Given the description of an element on the screen output the (x, y) to click on. 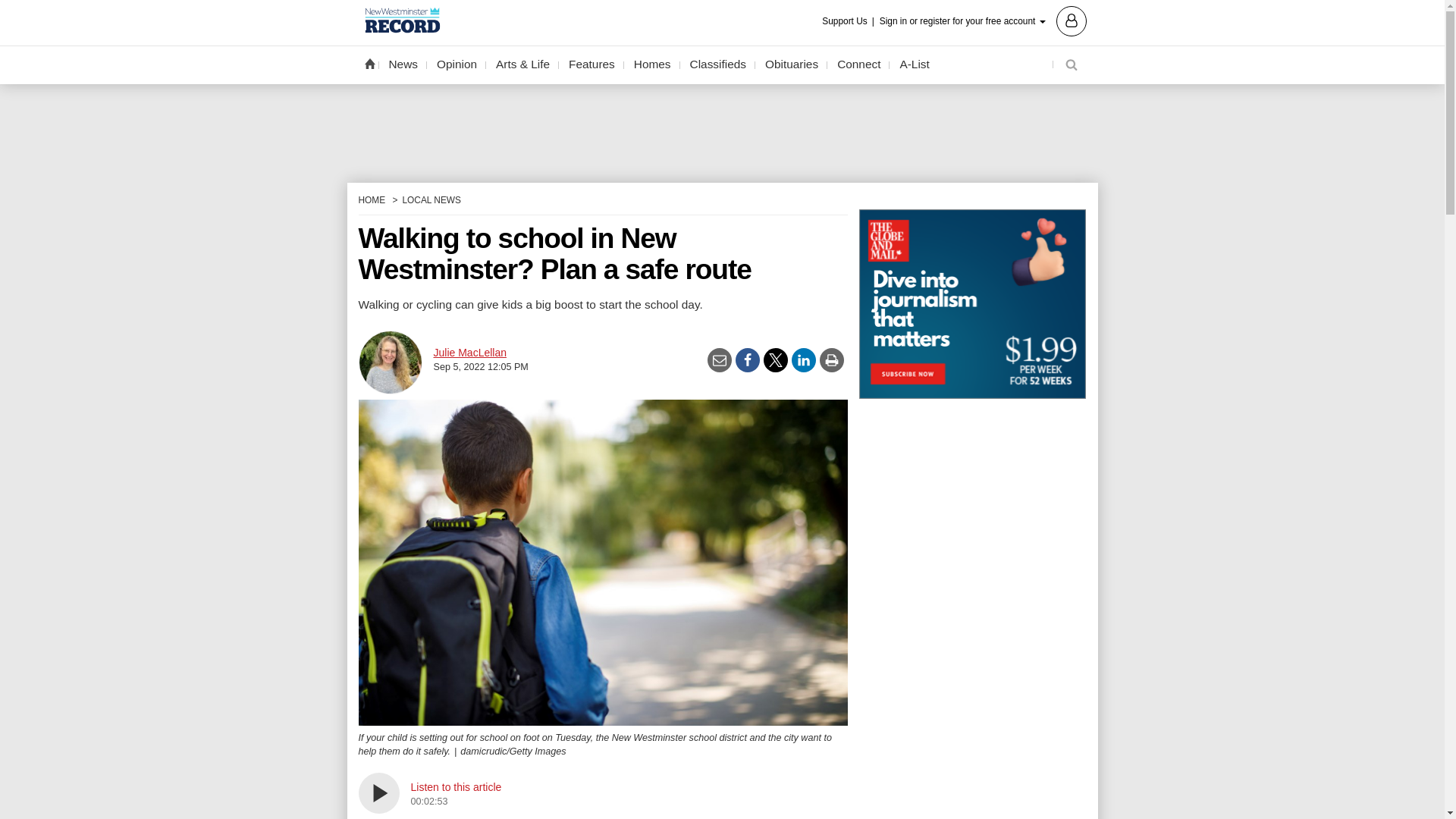
Home (368, 63)
Sign in or register for your free account (982, 20)
Support Us (849, 21)
News (403, 64)
Opinion (456, 64)
